Given the description of an element on the screen output the (x, y) to click on. 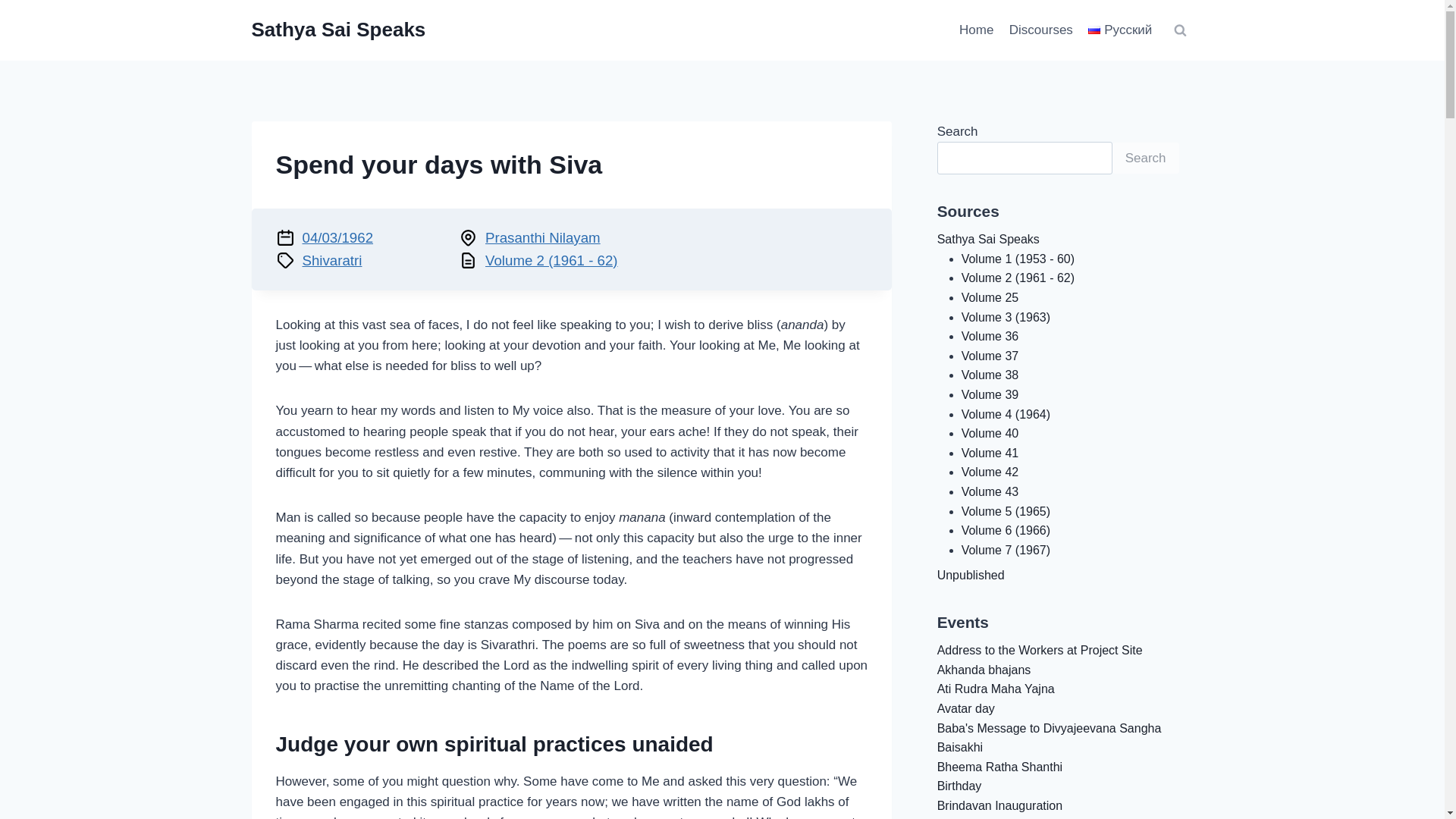
Volume 37 (989, 355)
Volume 40 (989, 432)
Address to the Workers at Project Site (1039, 649)
Volume 39 (989, 394)
Volume 25 (989, 297)
Avatar day (965, 707)
Volume 38 (989, 374)
Baba's Message to Divyajeevana Sangha (1049, 727)
Discourses (1040, 30)
Unpublished (970, 574)
